Given the description of an element on the screen output the (x, y) to click on. 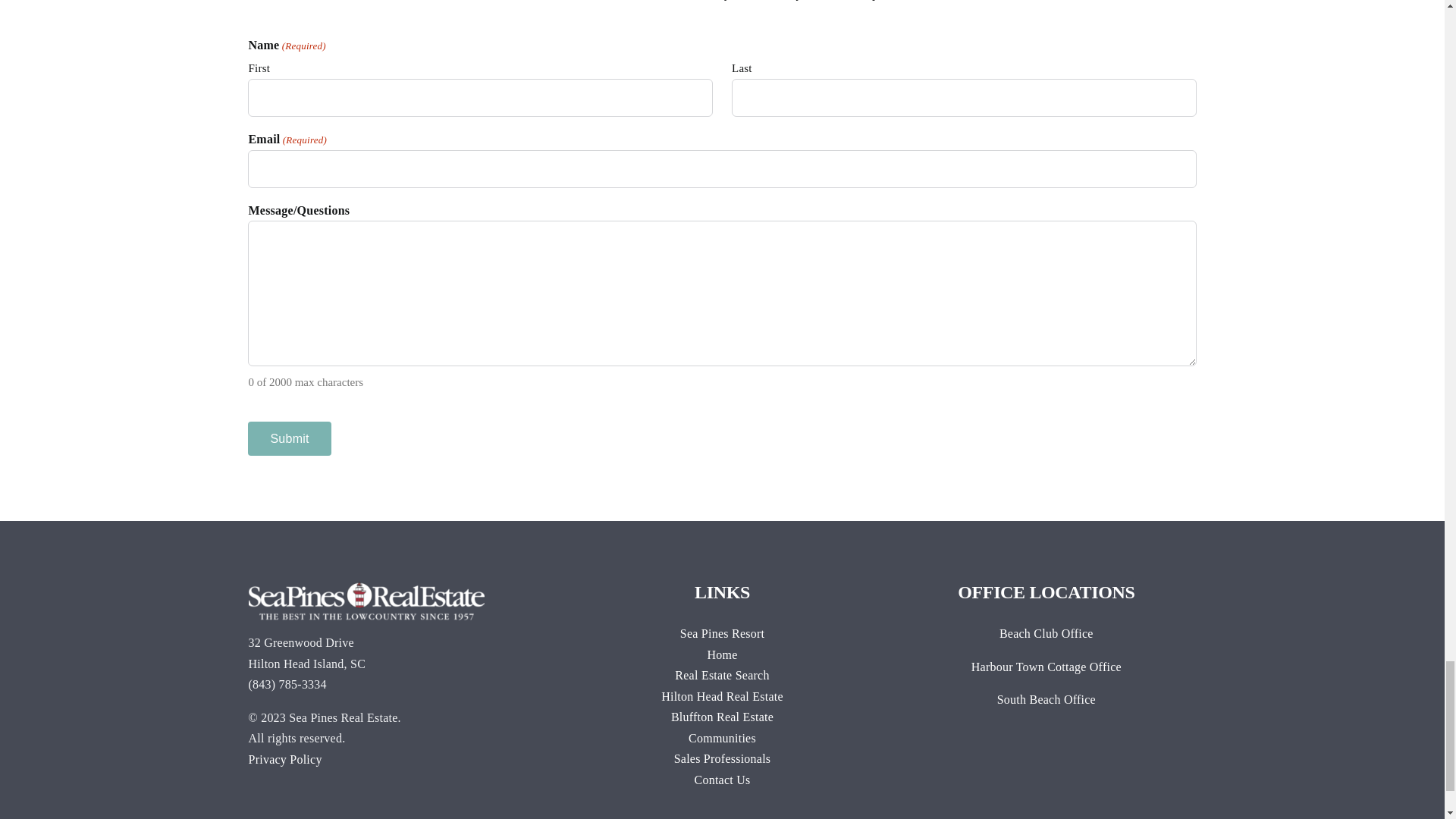
Submit (288, 438)
